Given the description of an element on the screen output the (x, y) to click on. 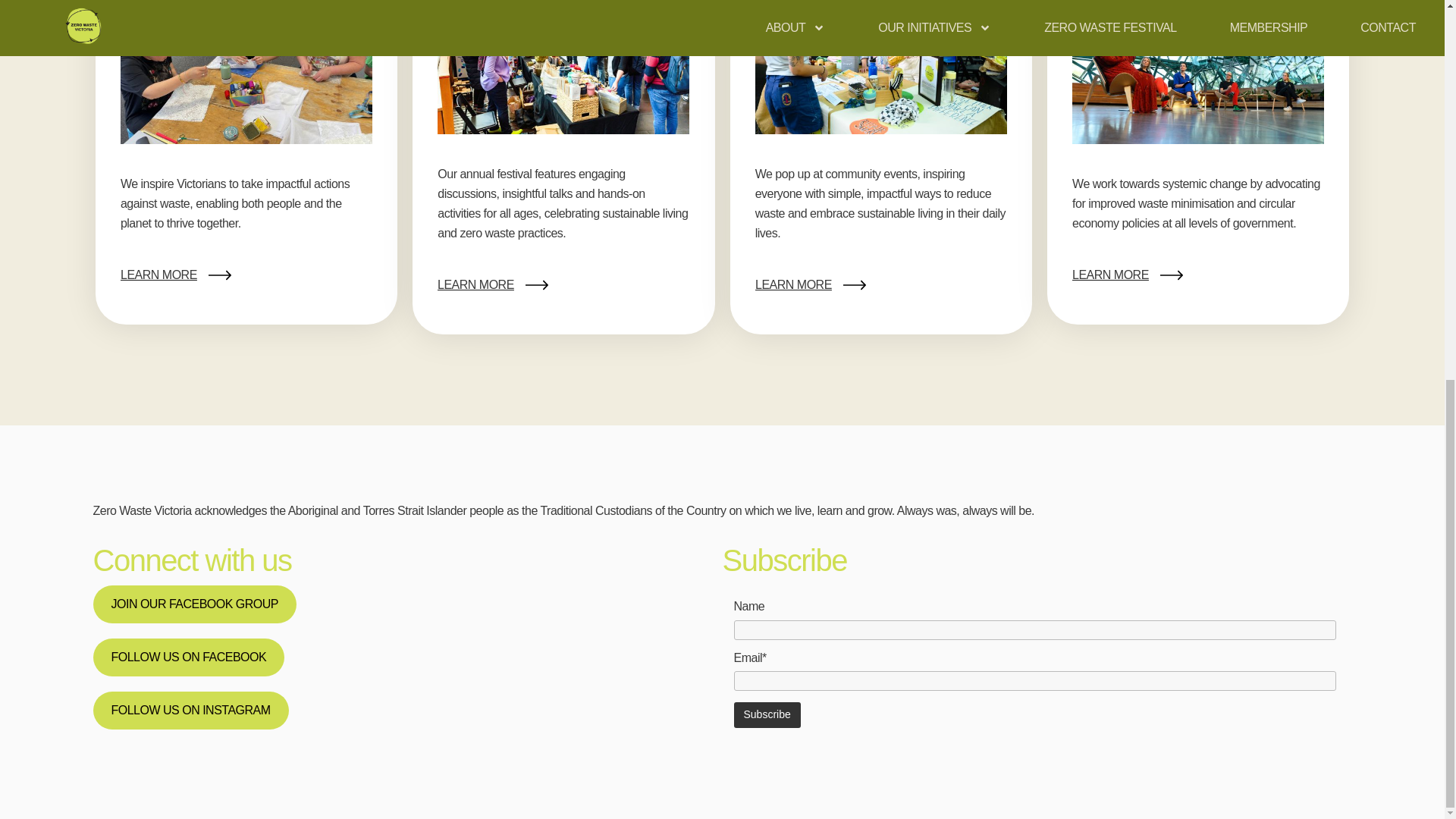
Subscribe (766, 714)
